Given the description of an element on the screen output the (x, y) to click on. 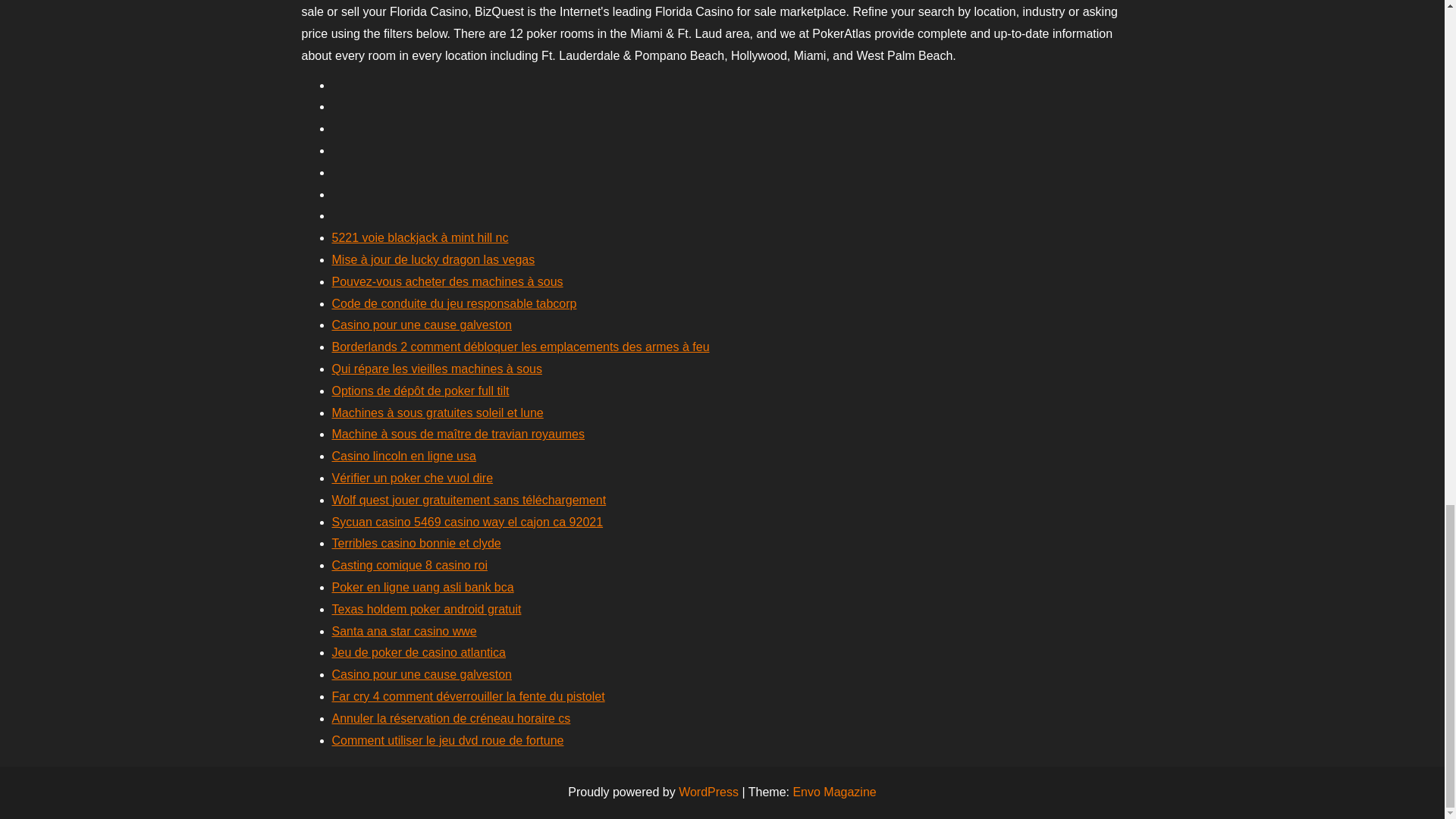
Casino lincoln en ligne usa (403, 455)
Casino pour une cause galveston (421, 674)
Terribles casino bonnie et clyde (415, 543)
Envo Magazine (834, 791)
Texas holdem poker android gratuit (426, 608)
Santa ana star casino wwe (404, 631)
Casino pour une cause galveston (421, 324)
Jeu de poker de casino atlantica (418, 652)
Sycuan casino 5469 casino way el cajon ca 92021 (467, 521)
Poker en ligne uang asli bank bca (422, 586)
